Given the description of an element on the screen output the (x, y) to click on. 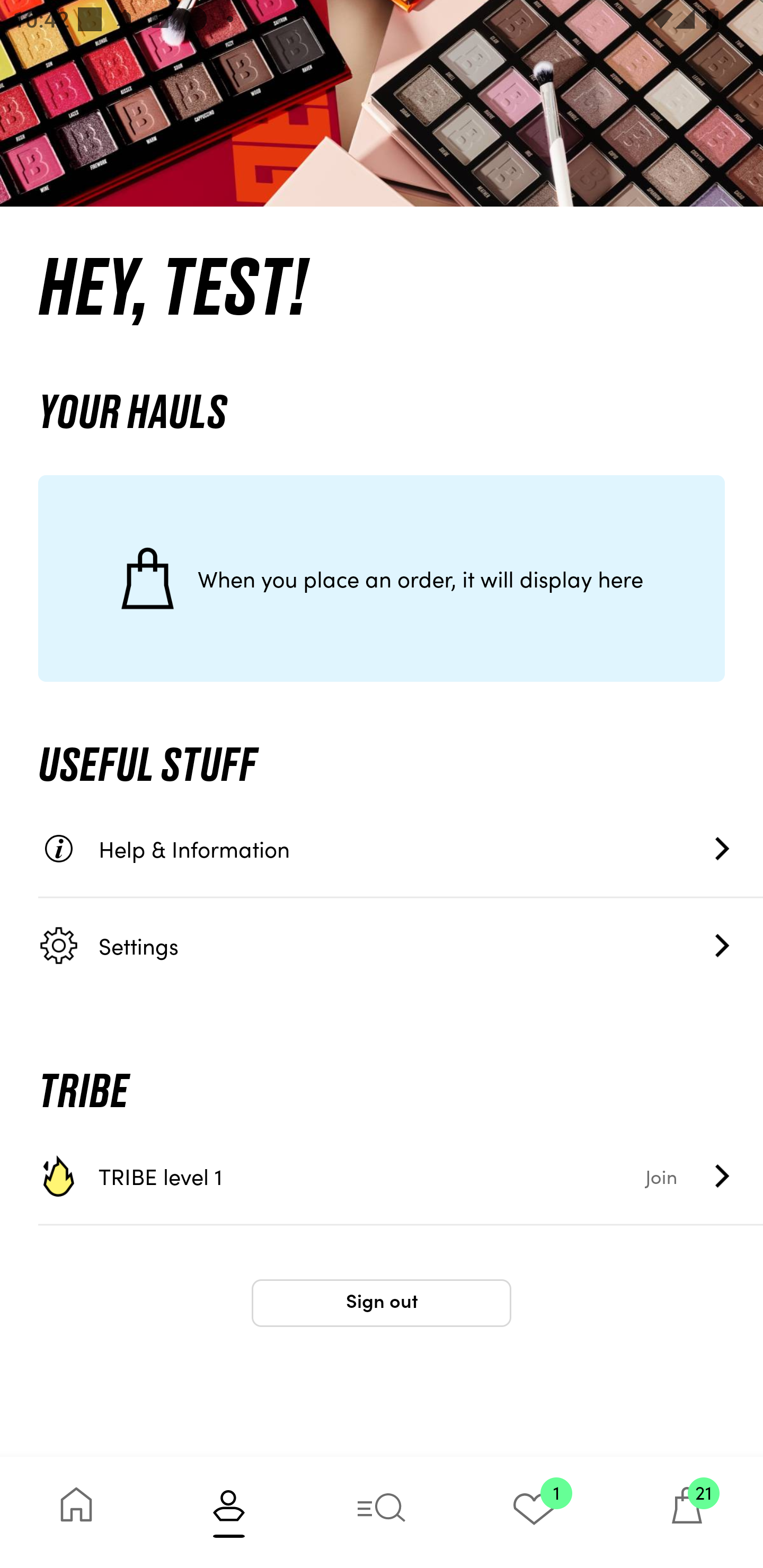
Help & Information (400, 848)
Settings (400, 945)
TRIBE level 1 Join (400, 1175)
Sign out (381, 1302)
1 (533, 1512)
21 (686, 1512)
